Given the description of an element on the screen output the (x, y) to click on. 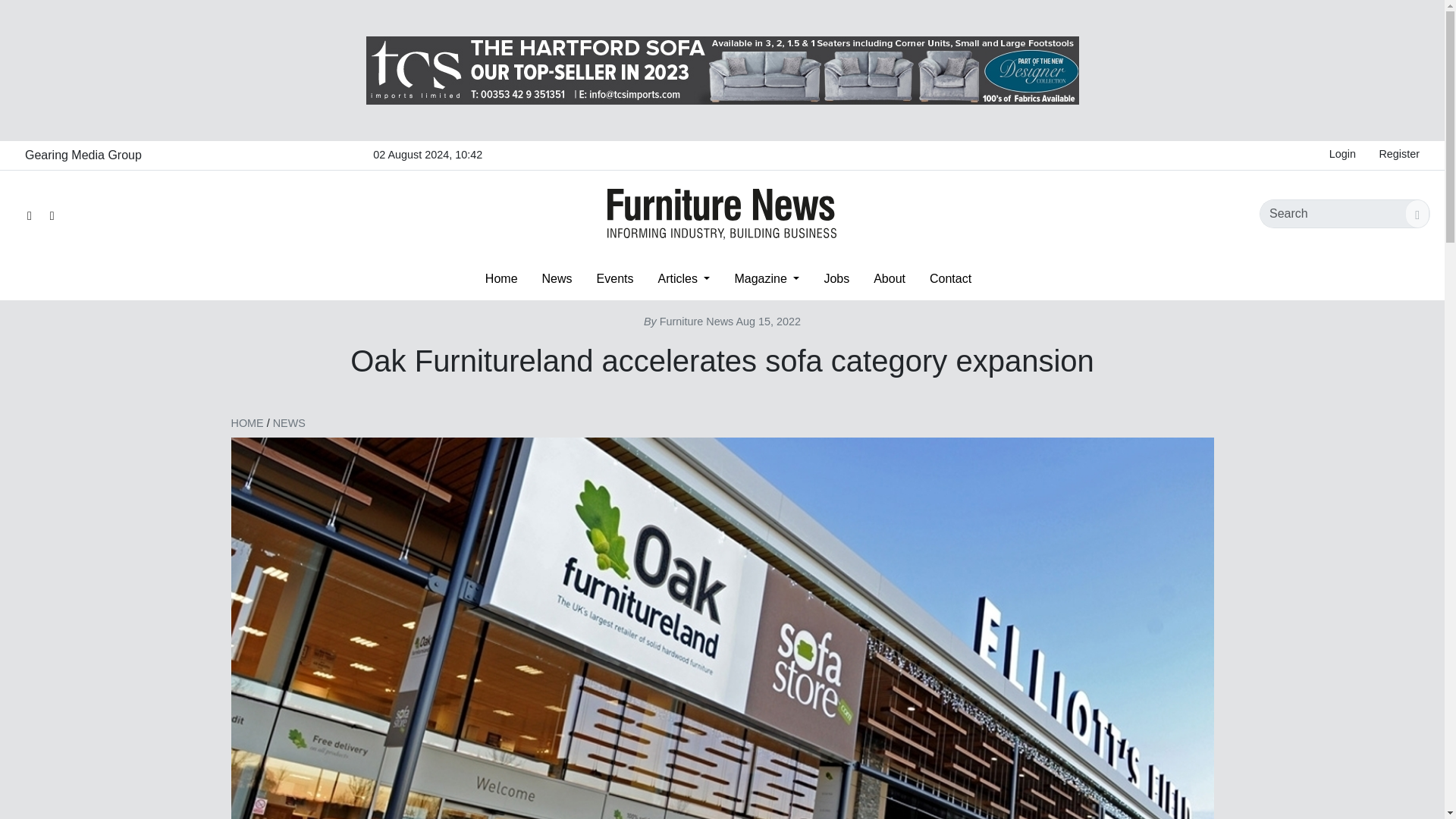
Register (1398, 154)
Events (615, 278)
NEWS (289, 422)
About (889, 278)
Magazine (766, 278)
Articles (683, 278)
Jobs (835, 278)
Gearing Media Group (82, 154)
Contact (950, 278)
Home (501, 278)
Login (1342, 154)
News (557, 278)
HOME (246, 422)
